Given the description of an element on the screen output the (x, y) to click on. 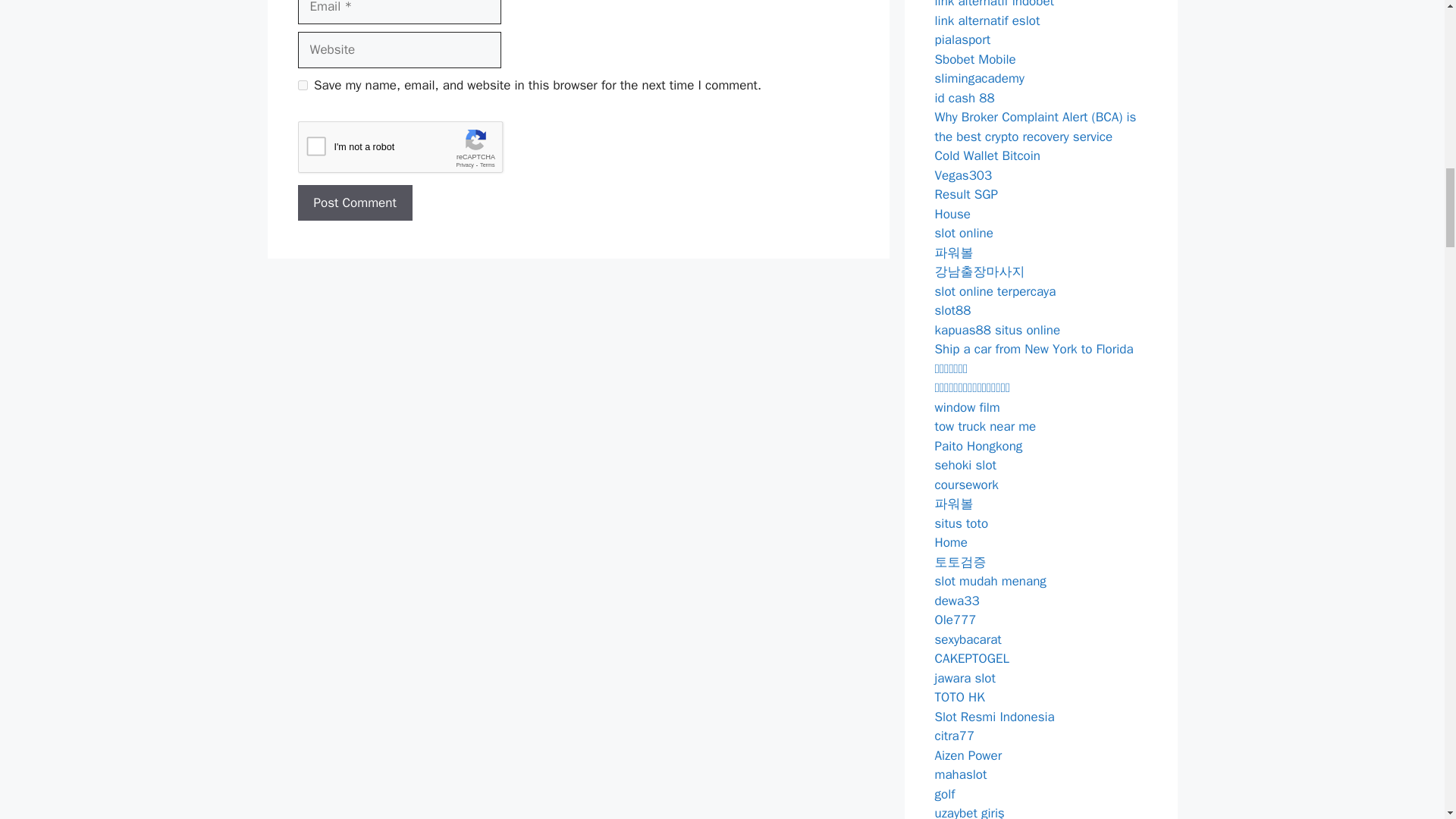
reCAPTCHA (412, 149)
Post Comment (354, 203)
Post Comment (354, 203)
yes (302, 85)
